Given the description of an element on the screen output the (x, y) to click on. 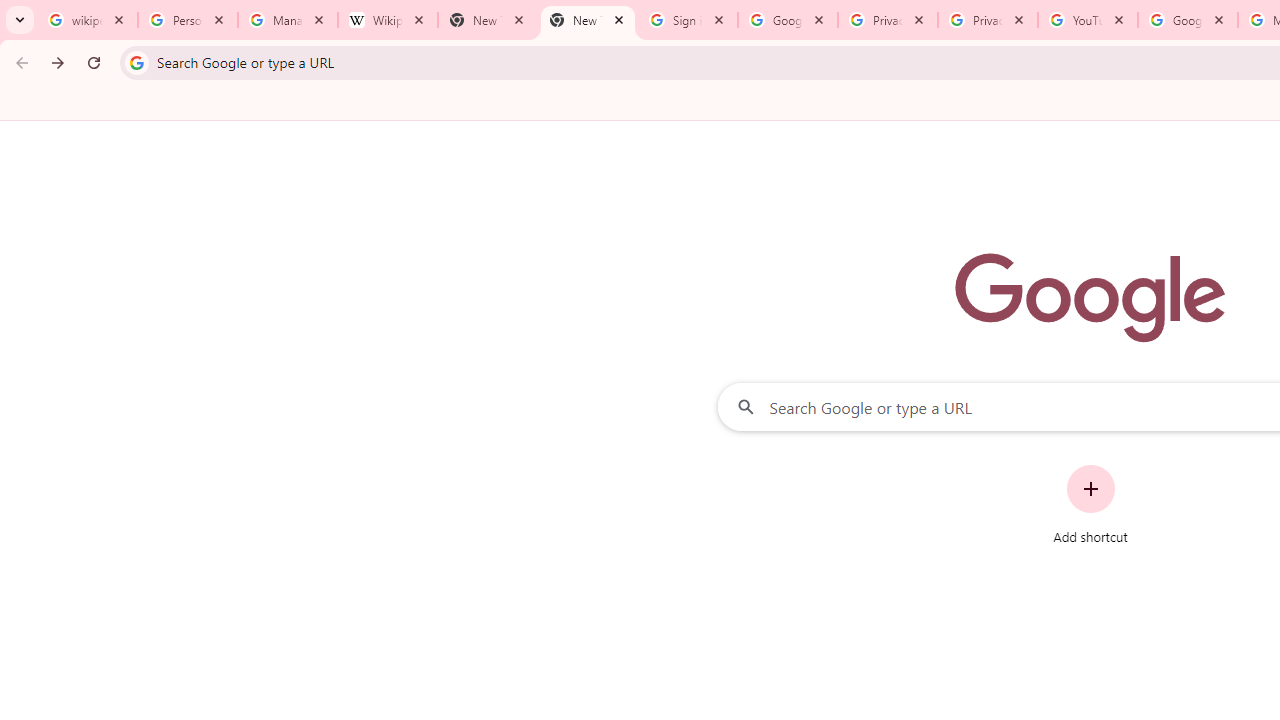
Manage your Location History - Google Search Help (287, 20)
Personalization & Google Search results - Google Search Help (188, 20)
Add shortcut (1090, 504)
Sign in - Google Accounts (687, 20)
Google Drive: Sign-in (788, 20)
New Tab (487, 20)
